Given the description of an element on the screen output the (x, y) to click on. 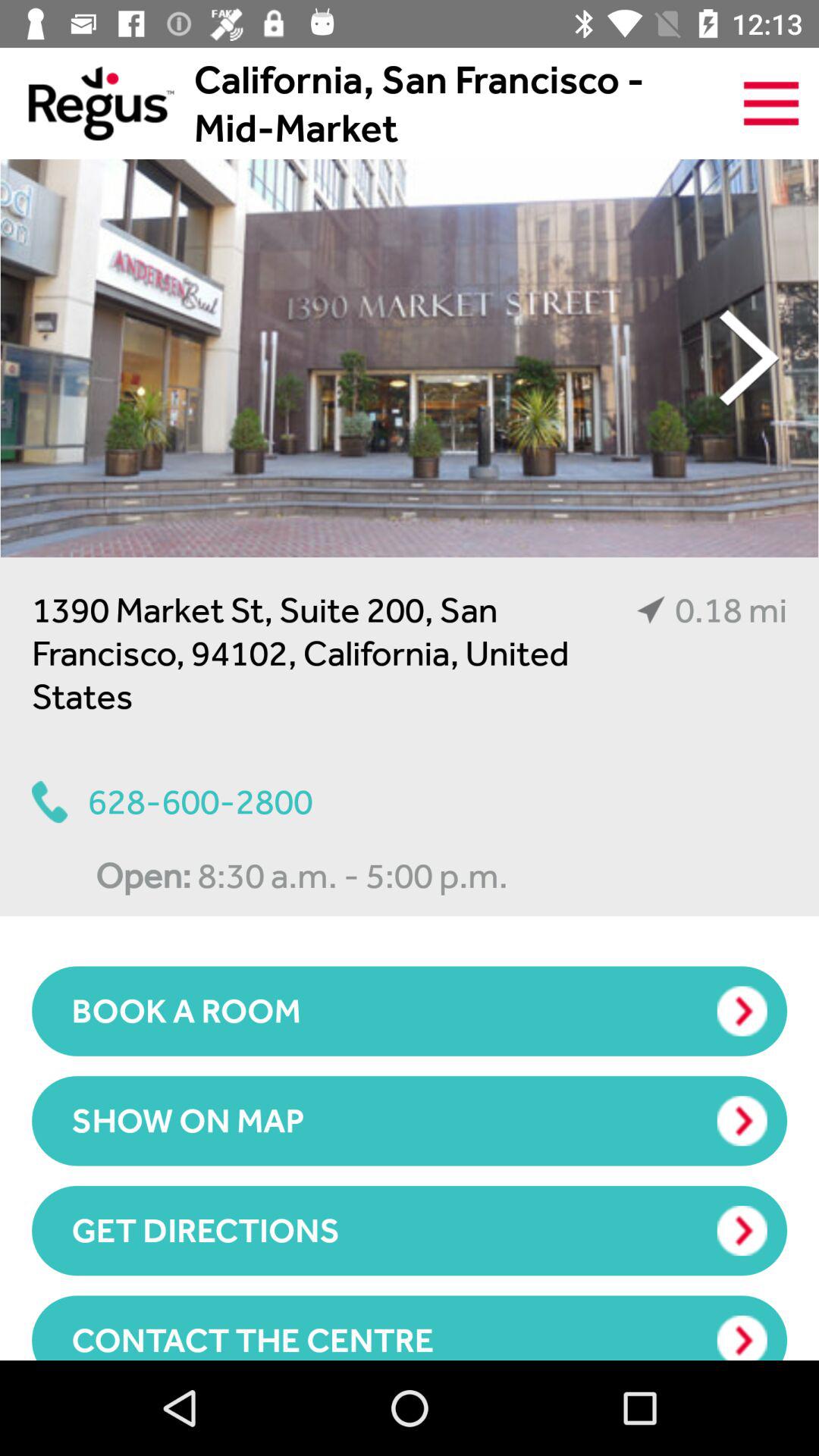
tap 628-600-2800 item (171, 801)
